Given the description of an element on the screen output the (x, y) to click on. 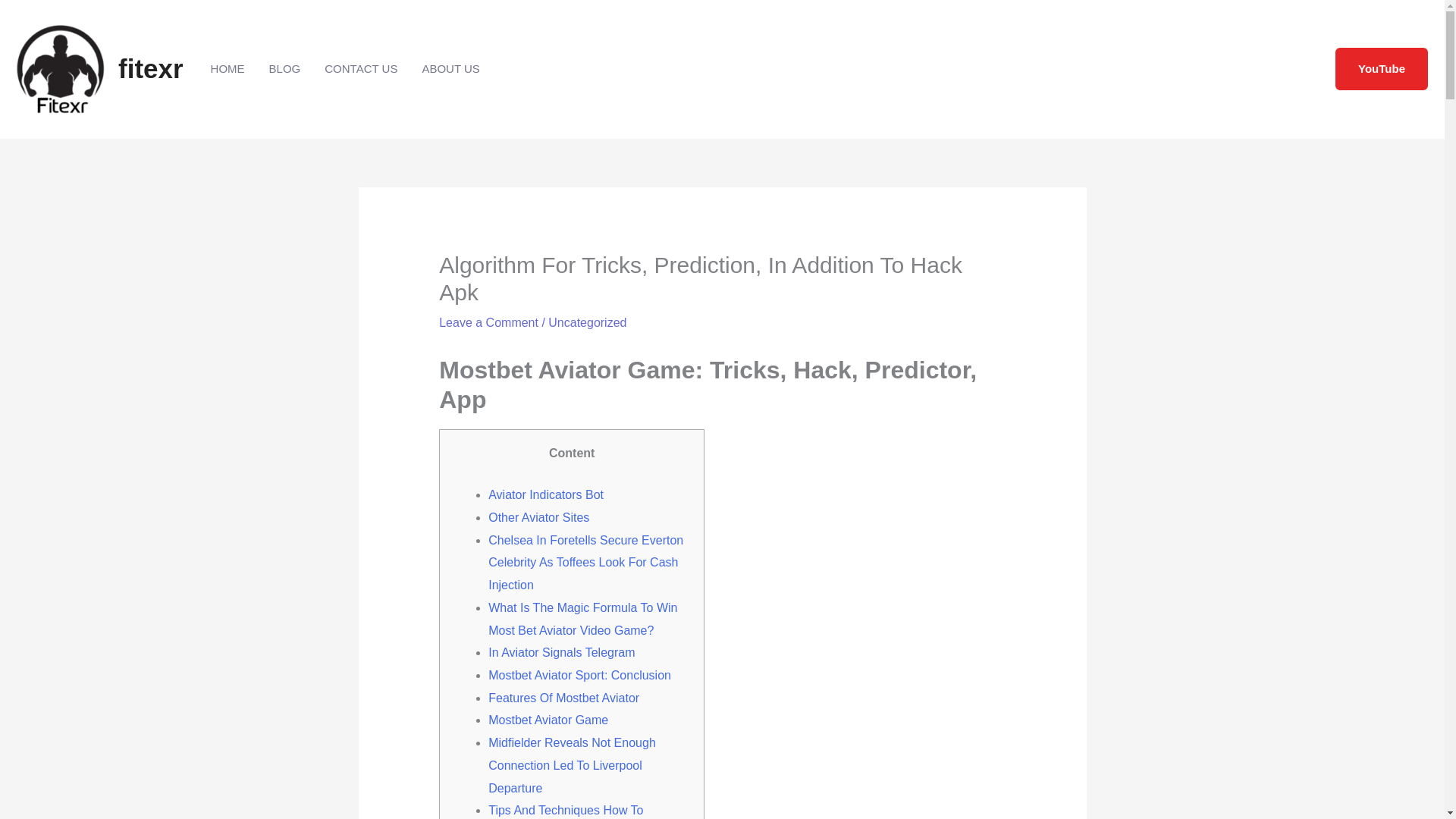
Other Aviator Sites (538, 517)
YouTube (1381, 68)
Leave a Comment (488, 322)
HOME (227, 68)
Uncategorized (587, 322)
Features Of Mostbet Aviator (563, 697)
Mostbet Aviator Sport: Conclusion (579, 675)
In Aviator Signals Telegram (560, 652)
Aviator Indicators Bot (545, 494)
